Given the description of an element on the screen output the (x, y) to click on. 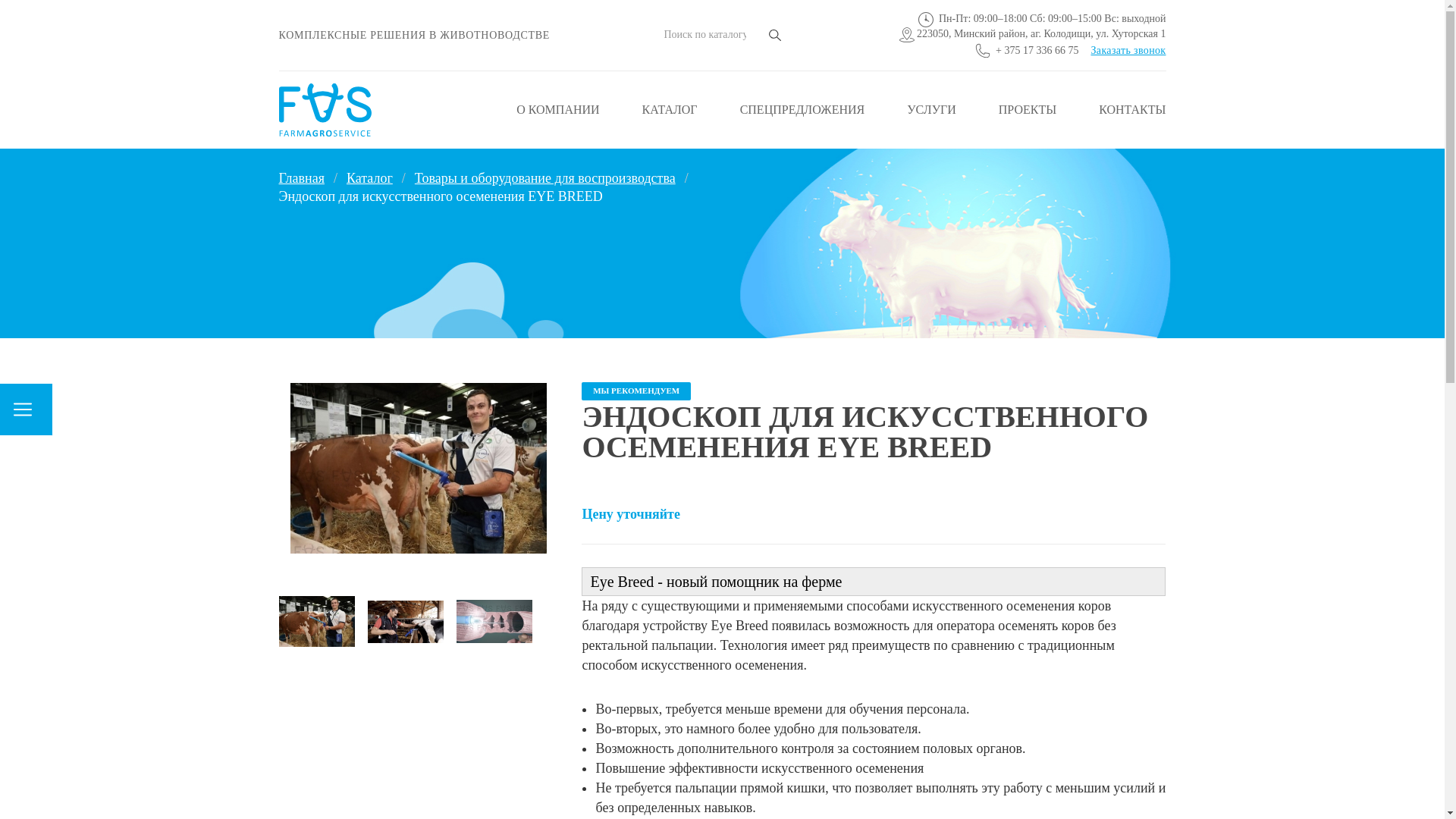
+ 375 17 336 66 75 Element type: text (1036, 50)
